Given the description of an element on the screen output the (x, y) to click on. 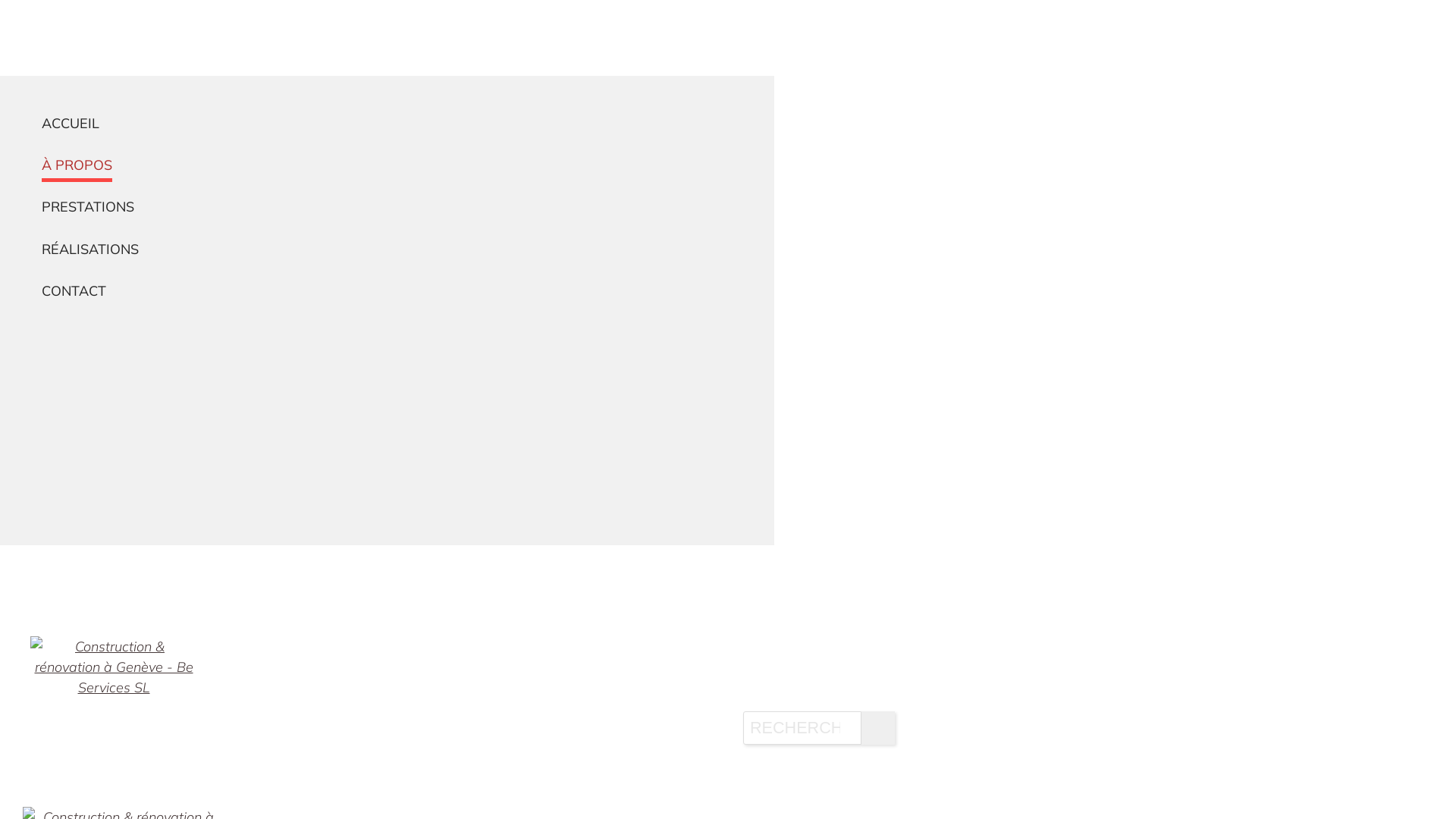
PRESTATIONS Element type: text (386, 208)
CONTACT Element type: text (386, 291)
ACCUEIL Element type: text (386, 123)
